Given the description of an element on the screen output the (x, y) to click on. 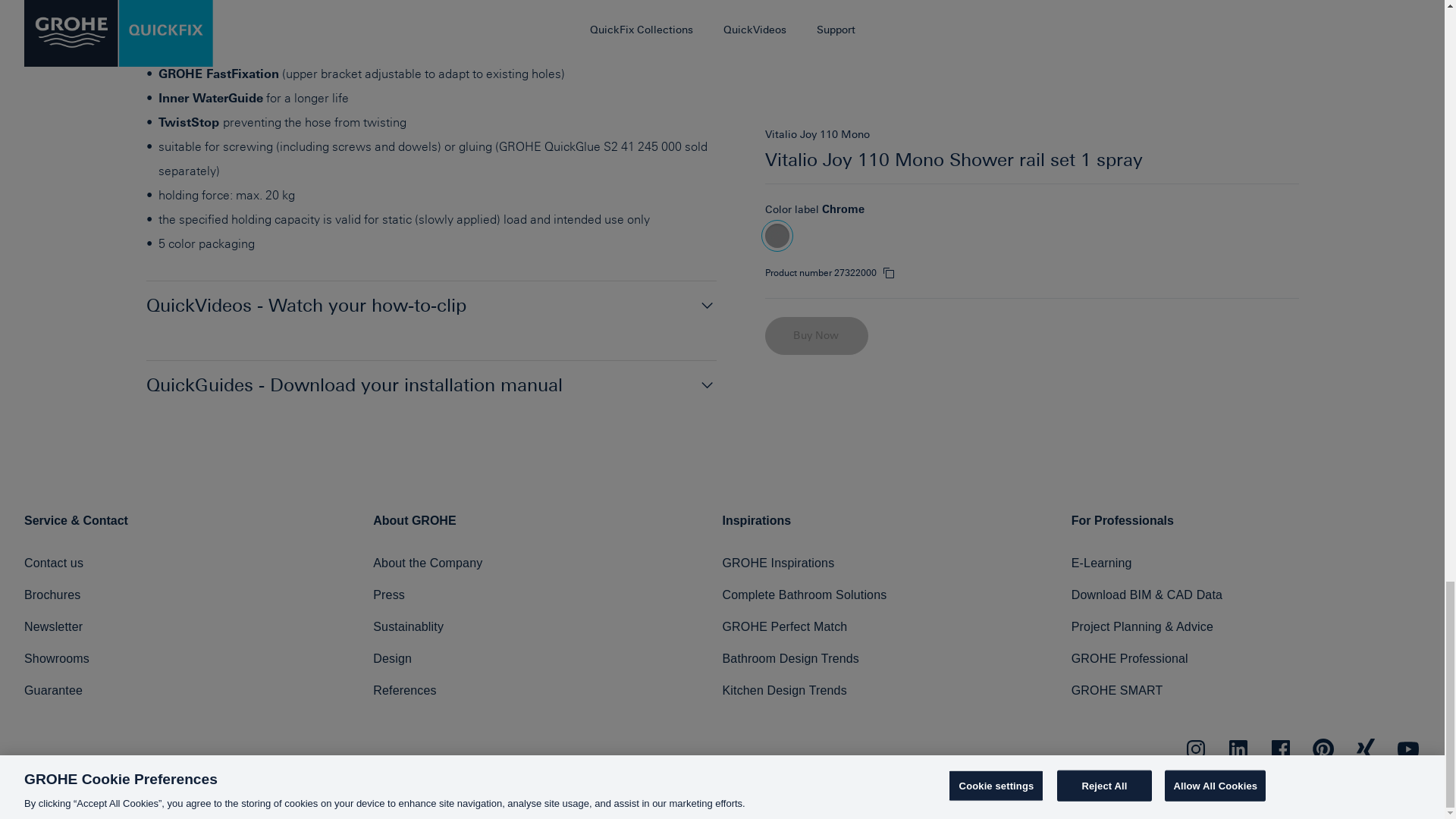
Press (388, 594)
Newsletter (53, 626)
GROHE Perfect Match (784, 626)
E-Learning (1101, 563)
Guarantee (53, 690)
QuickVideos - Watch your how-to-clip (430, 305)
Contact us (53, 563)
QuickGuides - Download your installation manual (430, 385)
Brochures (52, 594)
About the Company (426, 563)
